Given the description of an element on the screen output the (x, y) to click on. 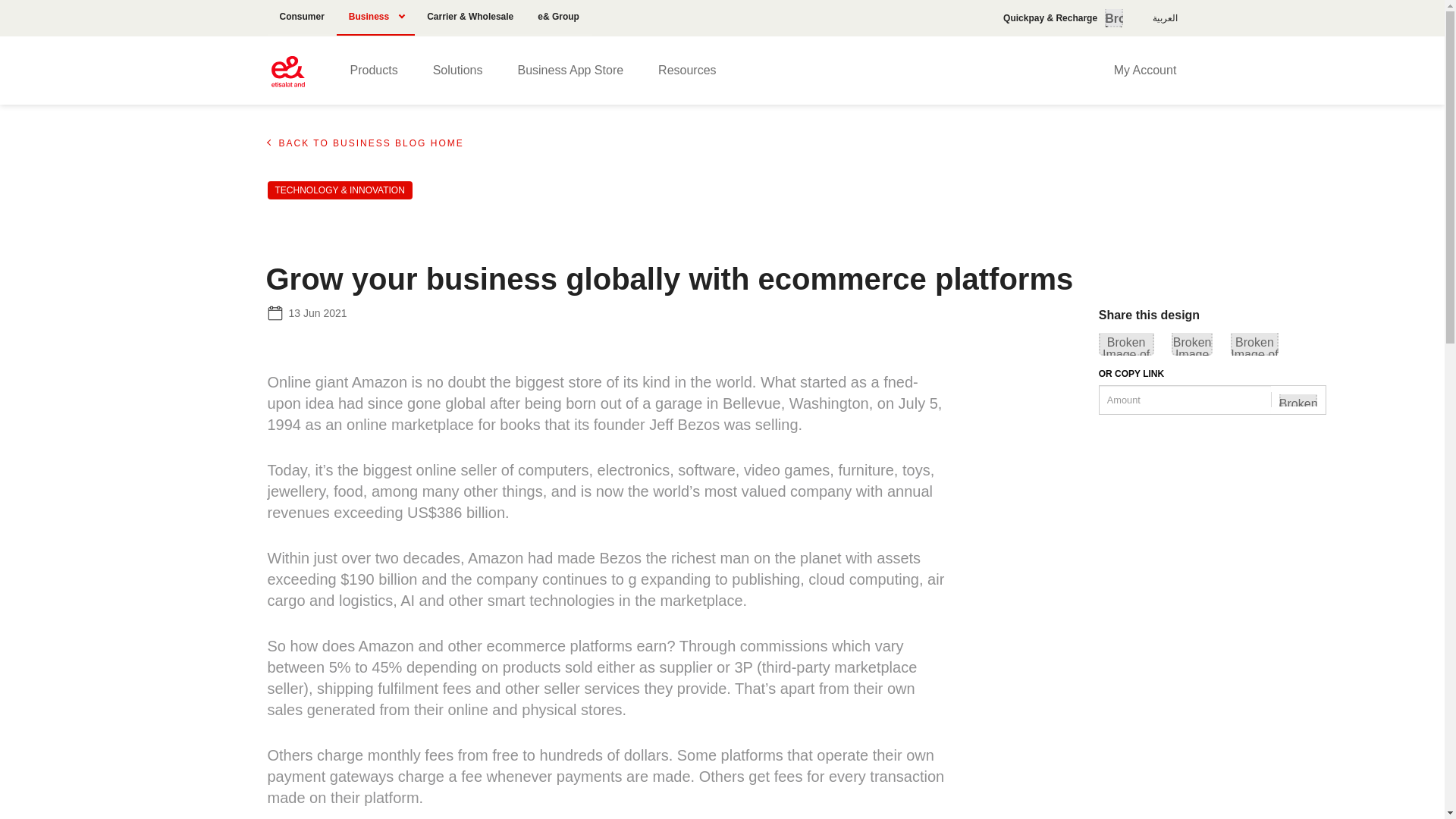
Business (375, 18)
BACK TO BUSINESS BLOG HOME (730, 142)
Products (372, 70)
Consumer (301, 18)
